Given the description of an element on the screen output the (x, y) to click on. 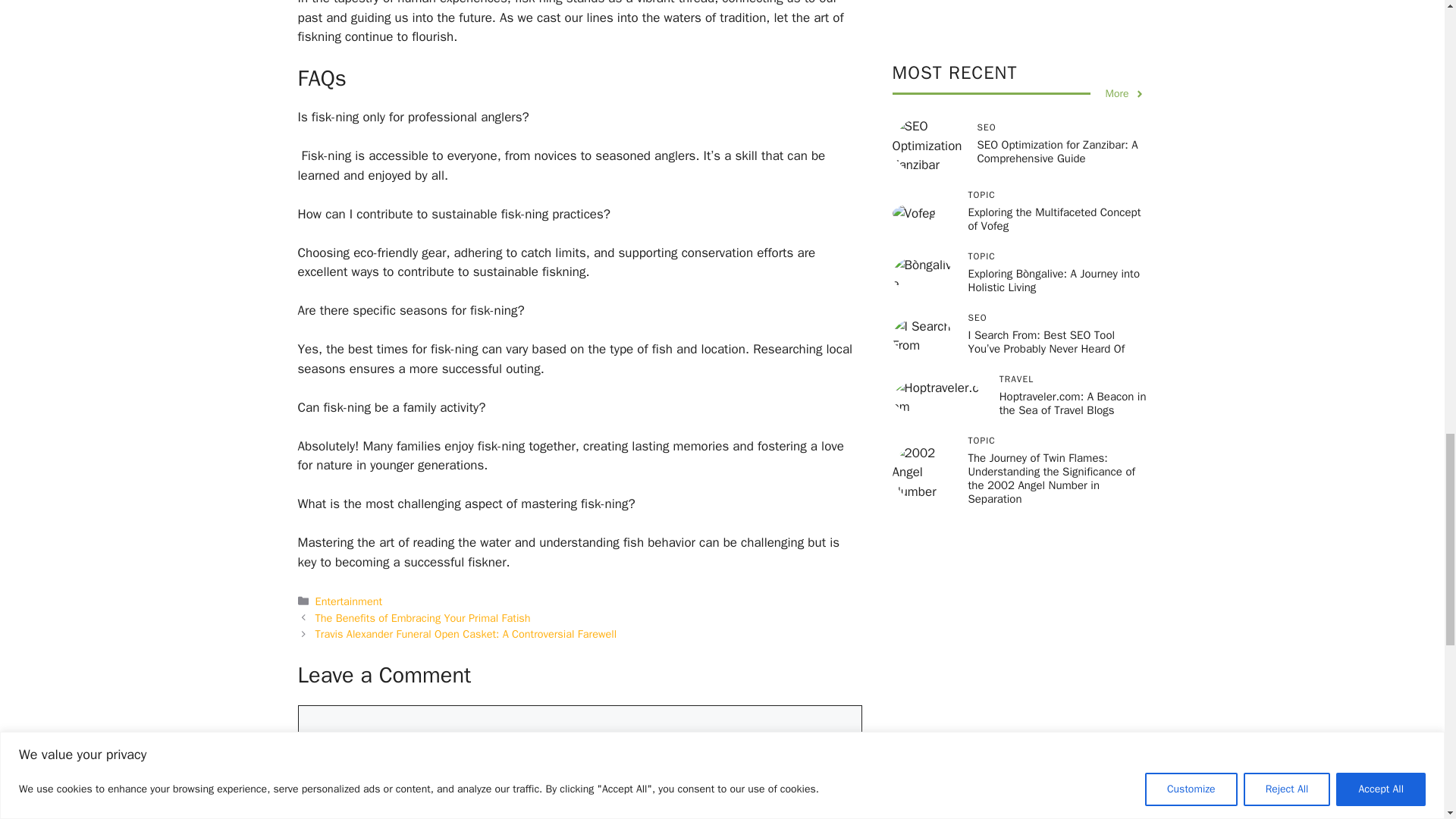
The Benefits of Embracing Your Primal Fatish (423, 617)
Entertainment (348, 601)
